Given the description of an element on the screen output the (x, y) to click on. 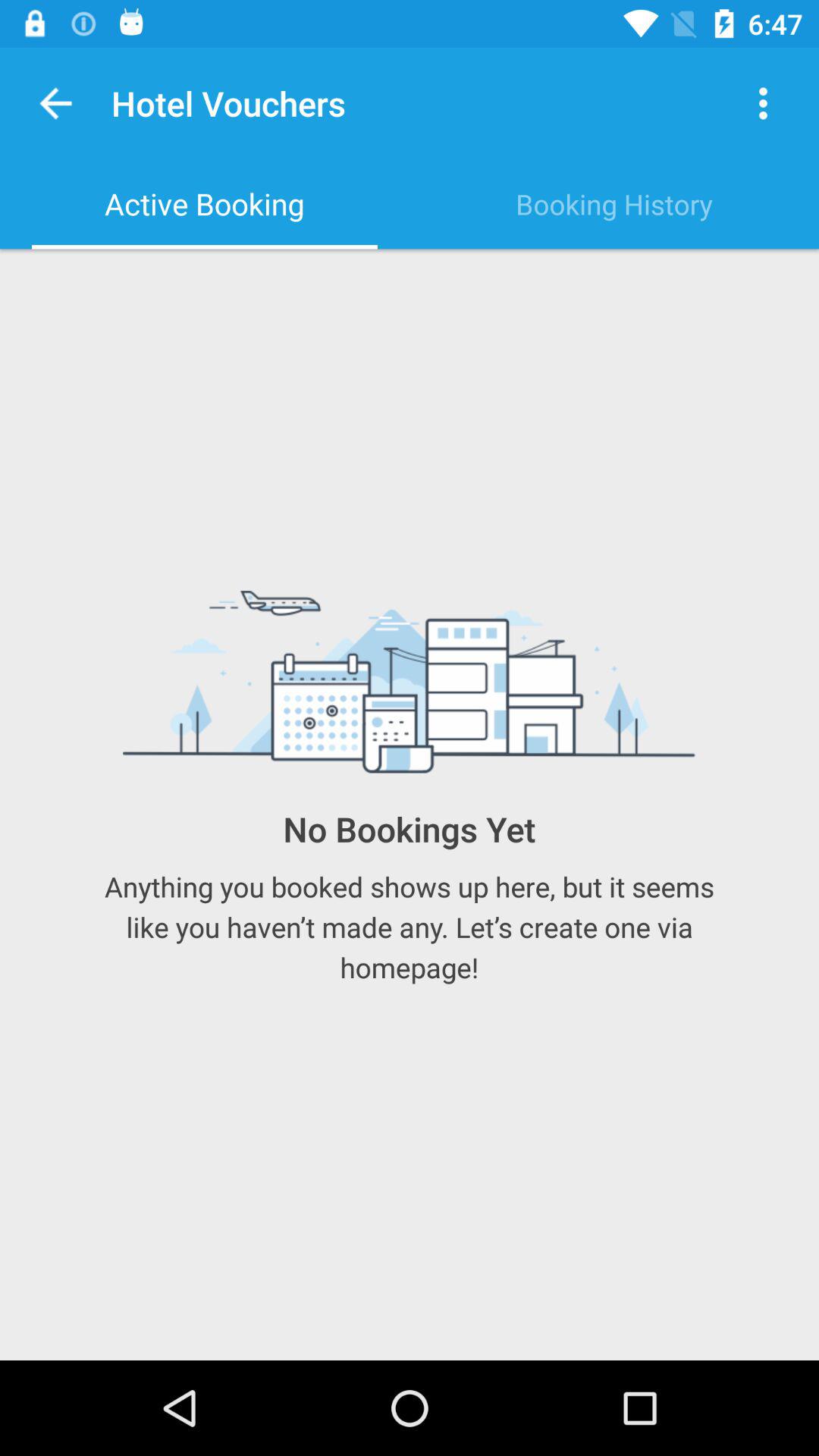
select the item above the active booking item (55, 103)
